Given the description of an element on the screen output the (x, y) to click on. 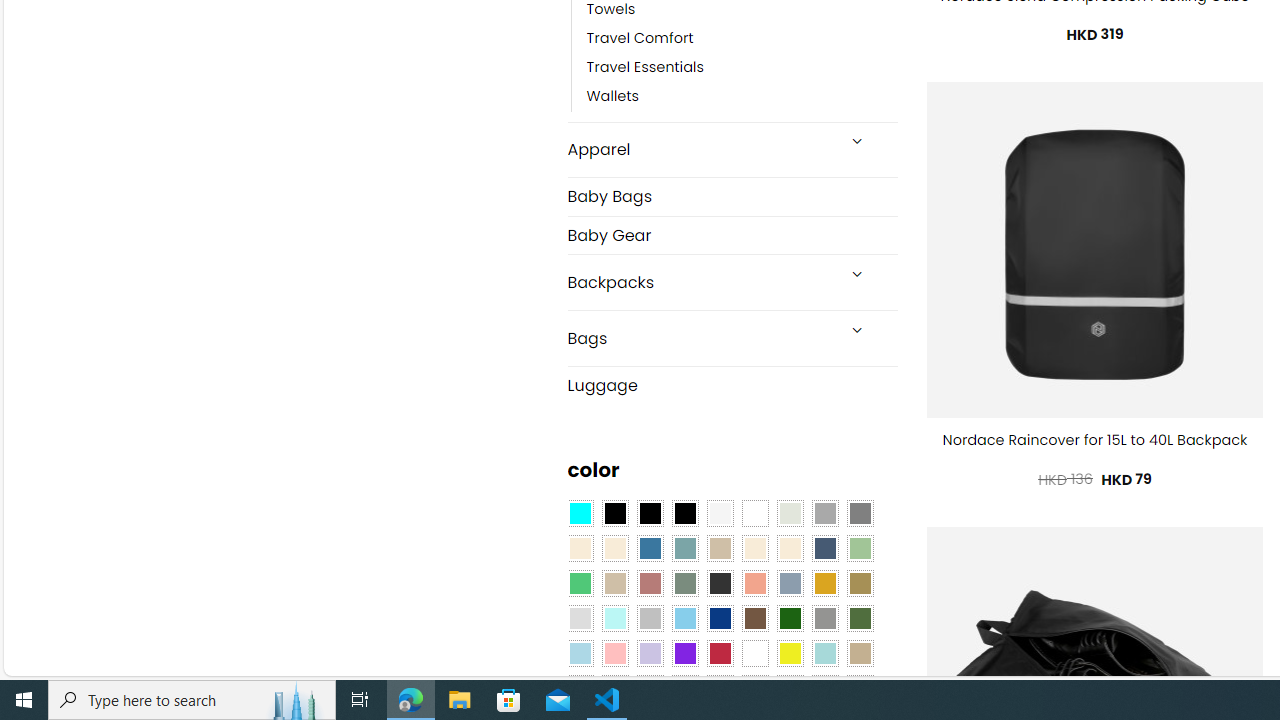
Clear (755, 514)
Wallets (613, 97)
Luggage (732, 384)
Light Blue (579, 653)
Navy Blue (719, 619)
Baby Gear (732, 235)
Gray (824, 619)
Kelp (859, 583)
Nordace Raincover for 15L to 40L Backpack (1095, 440)
Coral (755, 583)
Travel Comfort (742, 38)
Ash Gray (789, 514)
